Given the description of an element on the screen output the (x, y) to click on. 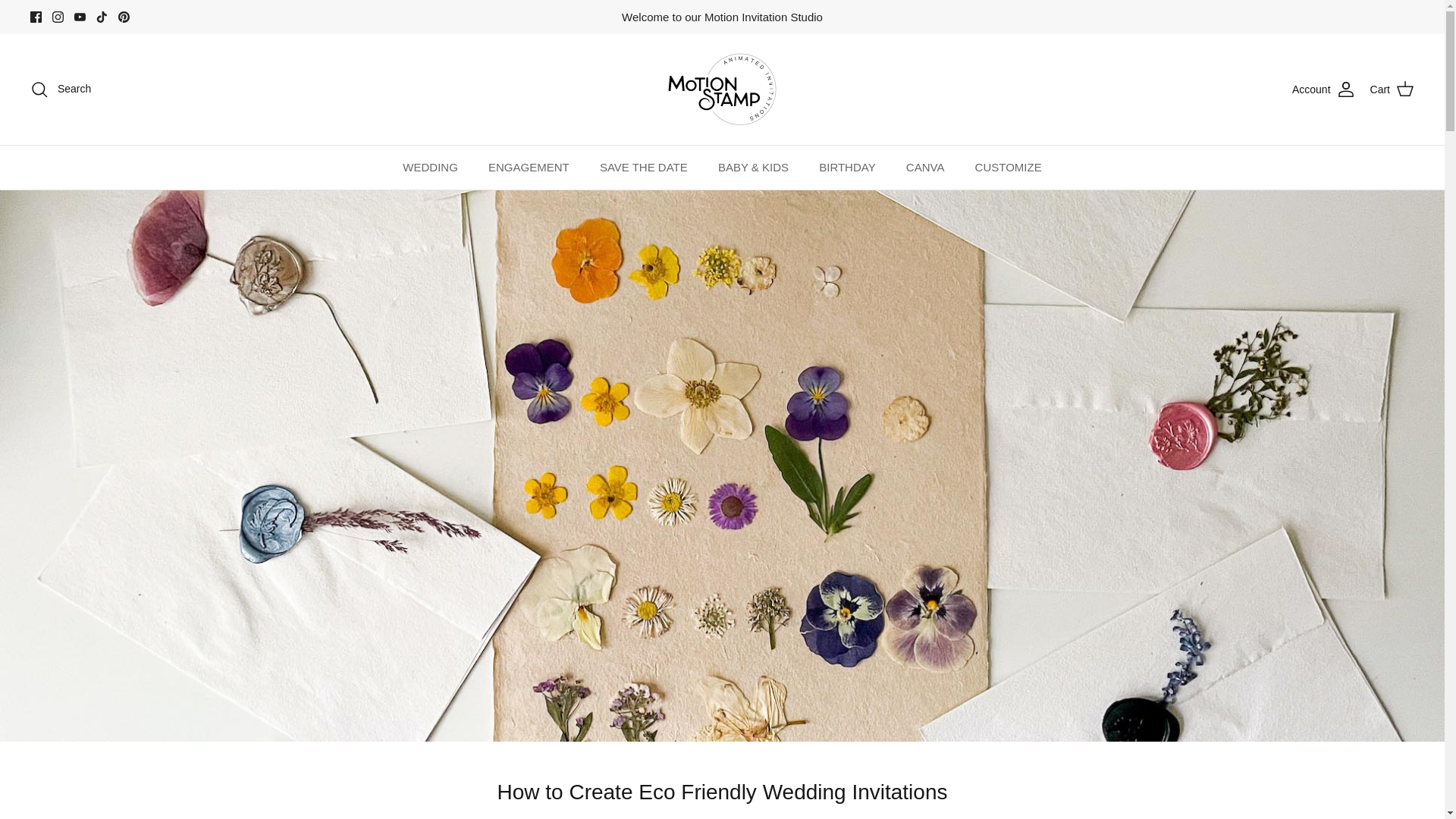
Search (60, 89)
Motion Stamp (721, 89)
Pinterest (123, 16)
Account (1323, 89)
Pinterest (123, 16)
Cart (1391, 89)
Facebook (36, 16)
Youtube (79, 16)
WEDDING (429, 167)
Facebook (36, 16)
